Given the description of an element on the screen output the (x, y) to click on. 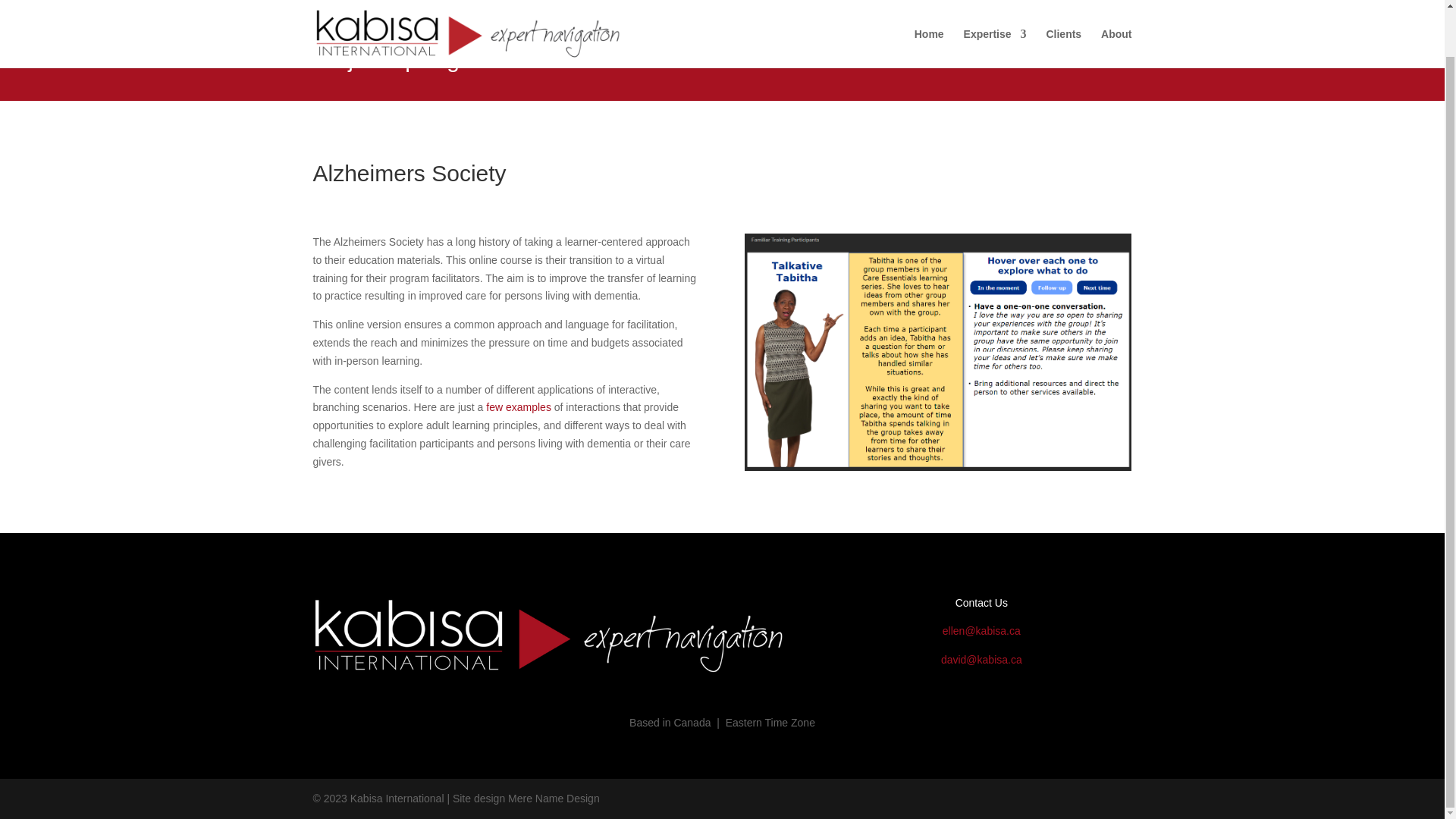
Expertise (994, 9)
Clients (1063, 9)
Home (928, 9)
About (1115, 9)
Screenshot 2023-06-05 140449 (937, 351)
logo reversed (549, 636)
few examples (518, 407)
